Given the description of an element on the screen output the (x, y) to click on. 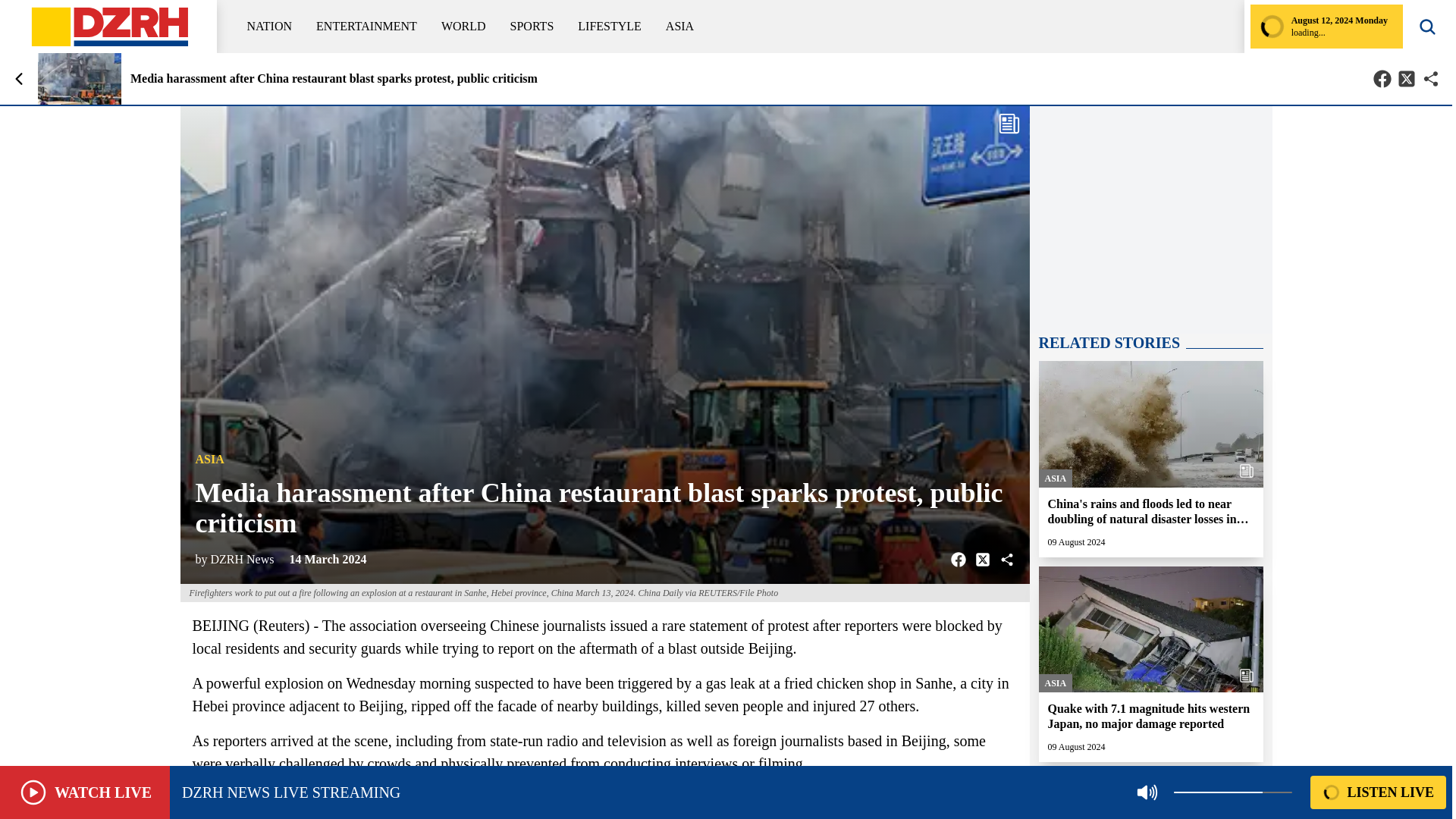
LIFESTYLE (610, 25)
ENTERTAINMENT (365, 25)
SPORTS (532, 25)
NATION (269, 25)
ASIA (679, 25)
WORLD (463, 25)
